Given the description of an element on the screen output the (x, y) to click on. 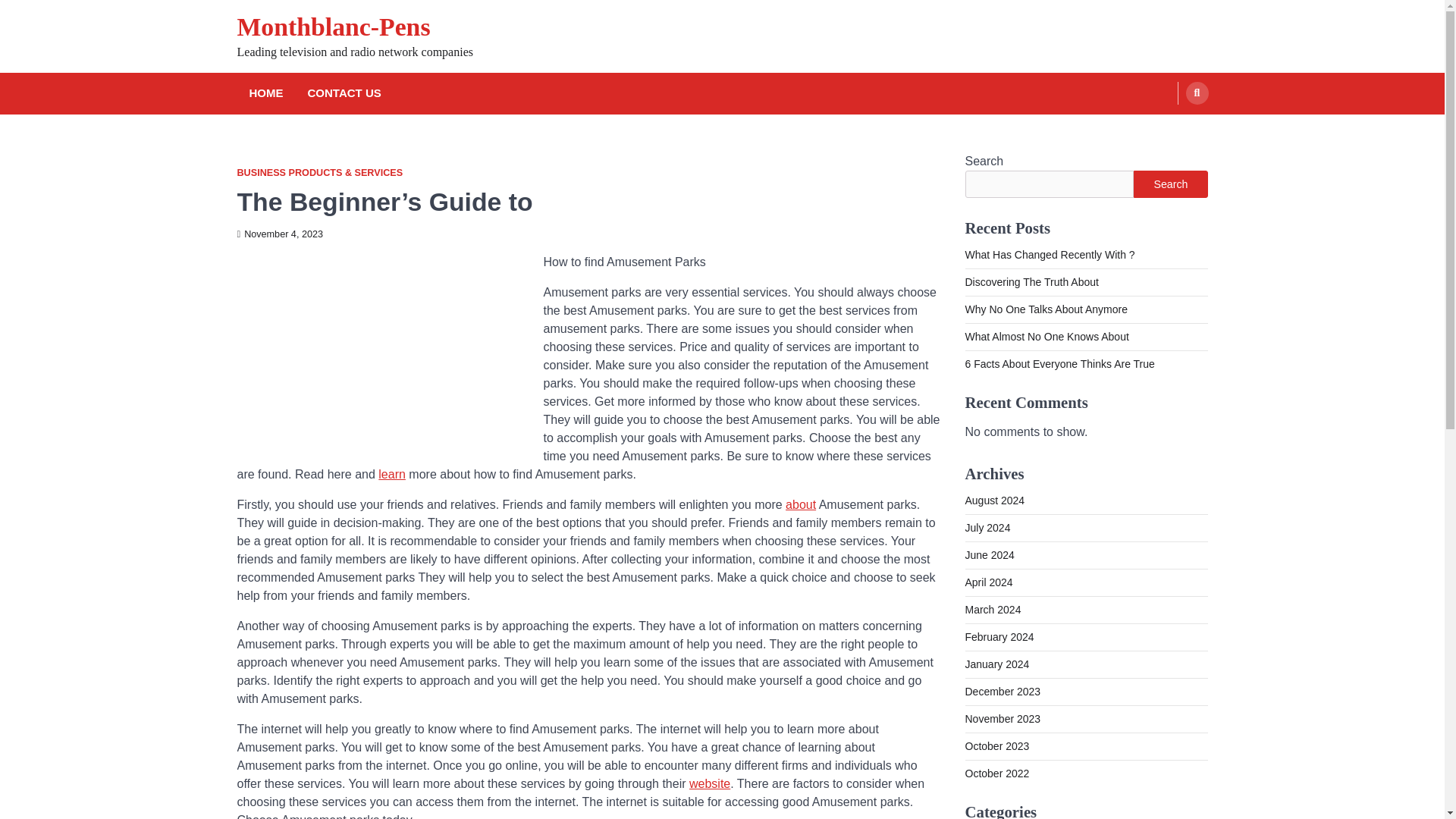
October 2022 (996, 773)
Monthblanc-Pens (332, 26)
Discovering The Truth About (1030, 282)
August 2024 (994, 500)
December 2023 (1002, 691)
November 4, 2023 (279, 234)
website (709, 783)
CONTACT US (344, 93)
Search (1168, 128)
learn (392, 473)
